Given the description of an element on the screen output the (x, y) to click on. 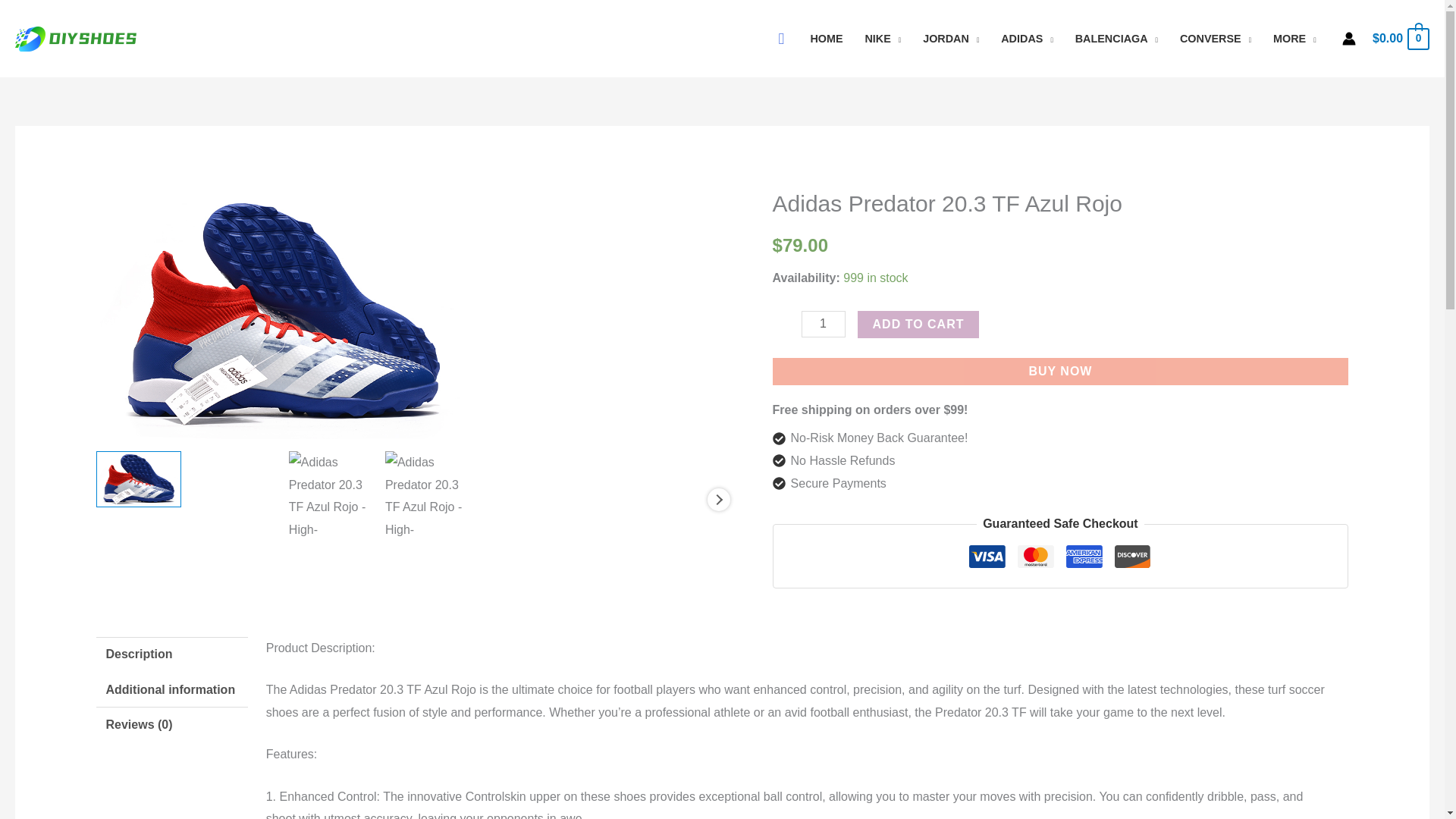
ADIDAS (1027, 38)
1 (823, 324)
NIKE (882, 38)
HOME (826, 38)
JORDAN (951, 38)
